Given the description of an element on the screen output the (x, y) to click on. 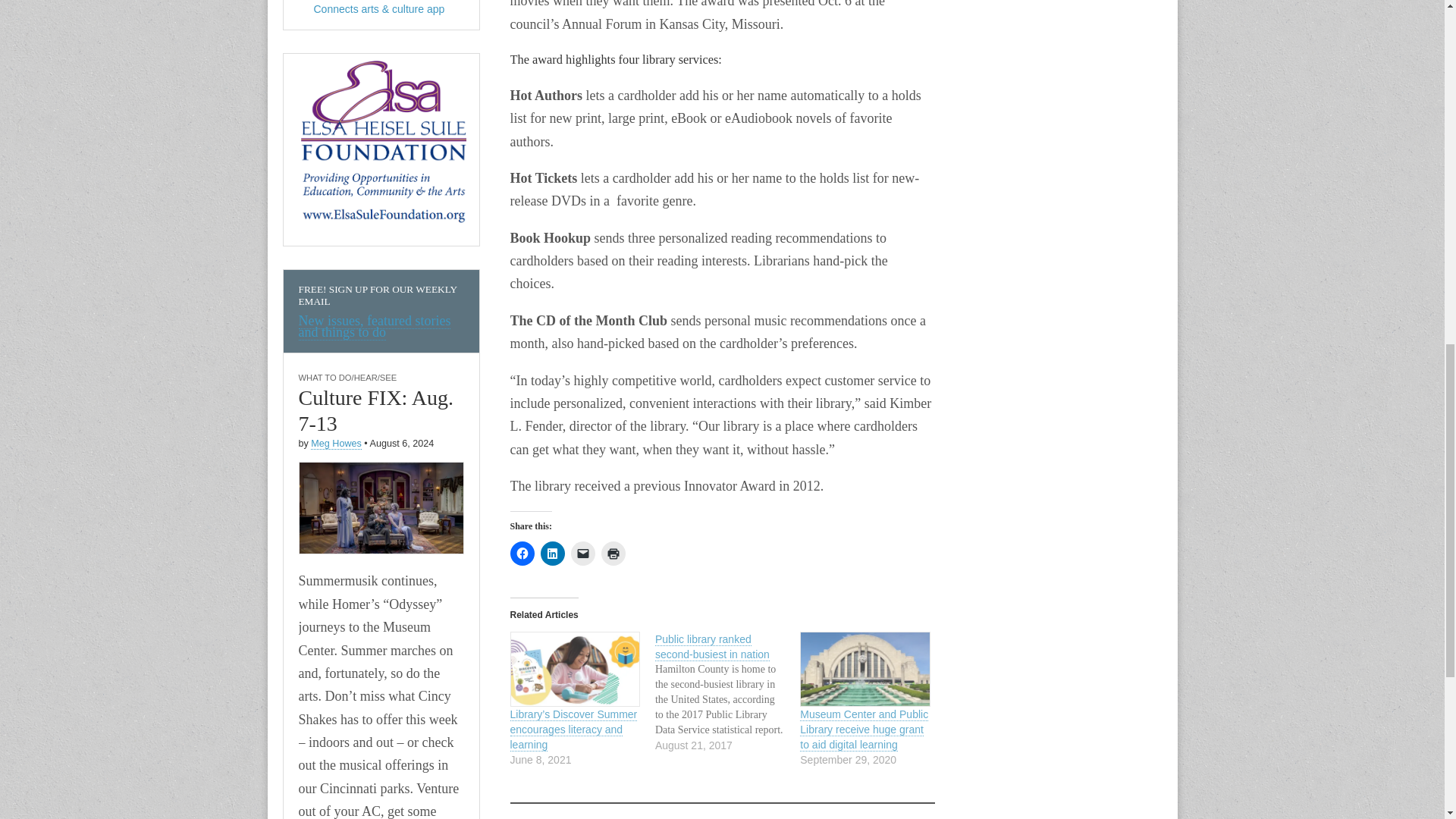
Click to share on LinkedIn (552, 553)
Public library ranked second-busiest in nation (727, 691)
Public library ranked second-busiest in nation (712, 646)
Click to print (611, 553)
Click to email a link to a friend (582, 553)
Click to share on Facebook (521, 553)
